Given the description of an element on the screen output the (x, y) to click on. 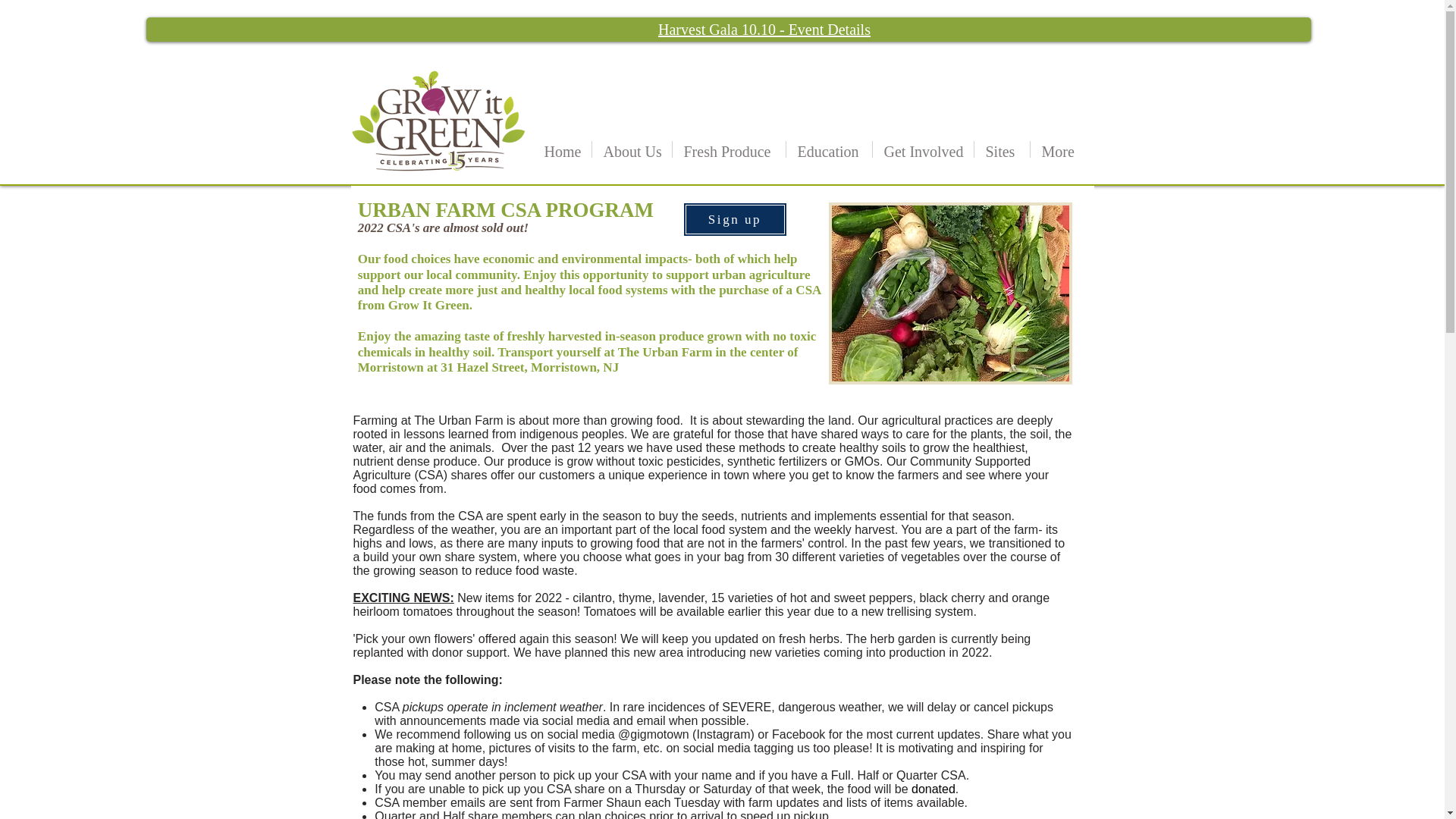
Education (828, 149)
Sign up (734, 219)
Home (561, 149)
About Us (631, 149)
Harvest Gala 10.10 - Event Details (764, 29)
